Given the description of an element on the screen output the (x, y) to click on. 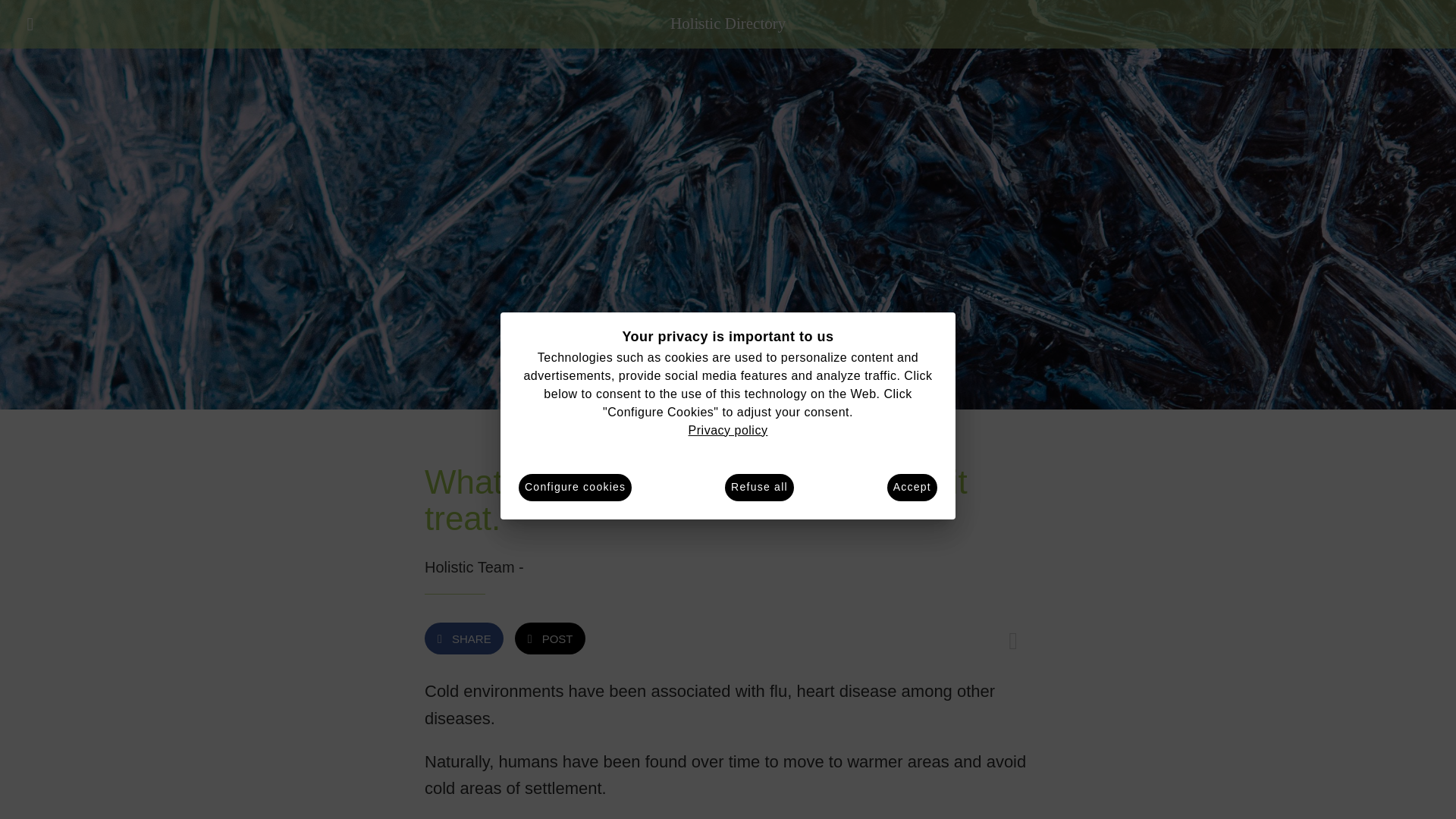
POST (550, 638)
SHARE (464, 638)
Privacy policy (728, 429)
Holistic Directory (727, 24)
Configure cookies (574, 486)
Refuse all (759, 486)
Accept (911, 486)
